Given the description of an element on the screen output the (x, y) to click on. 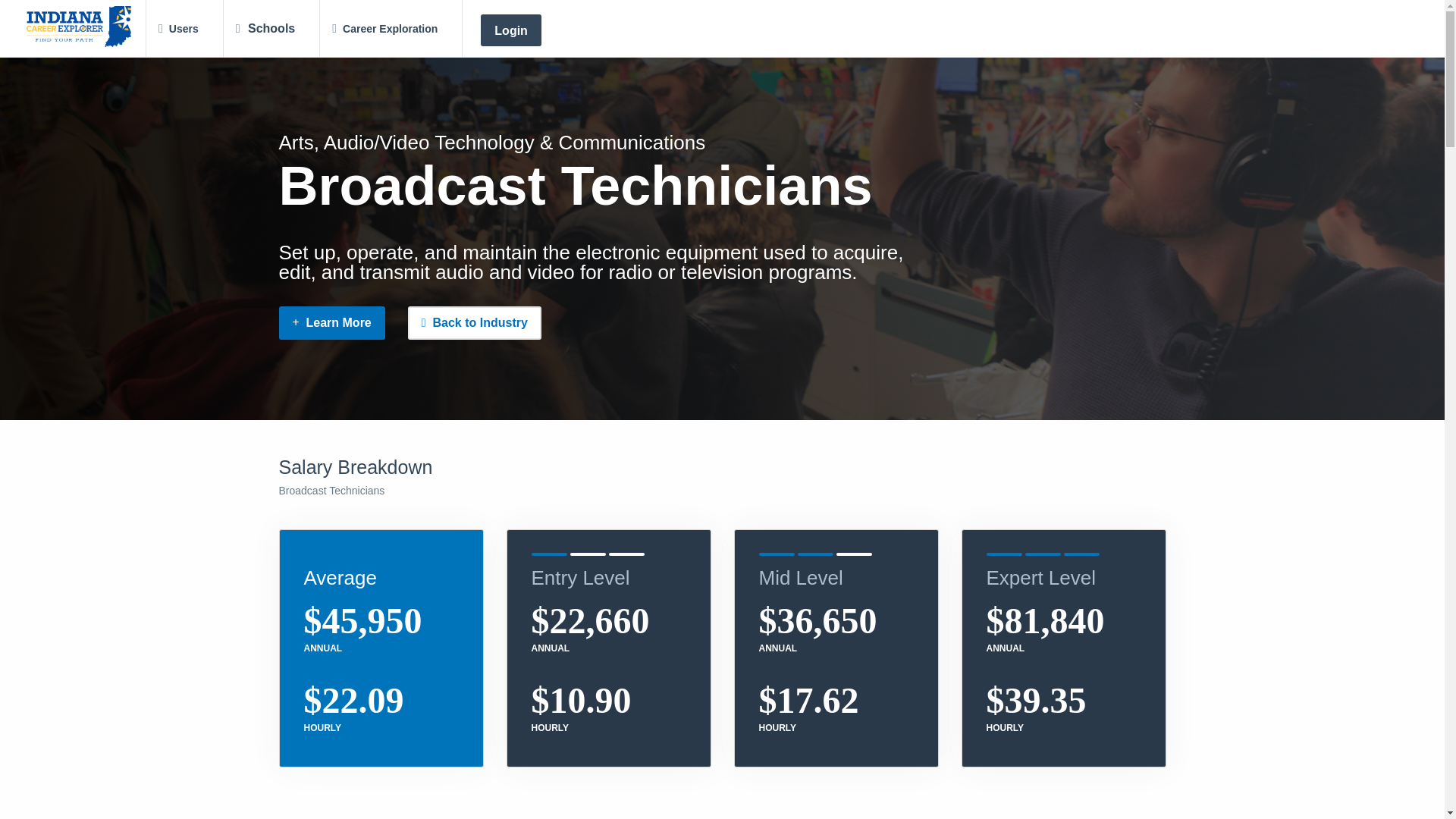
Users (179, 28)
Schools (265, 28)
Career Exploration (384, 28)
  Learn More (332, 322)
Login (510, 29)
  Back to Industry (474, 322)
